Given the description of an element on the screen output the (x, y) to click on. 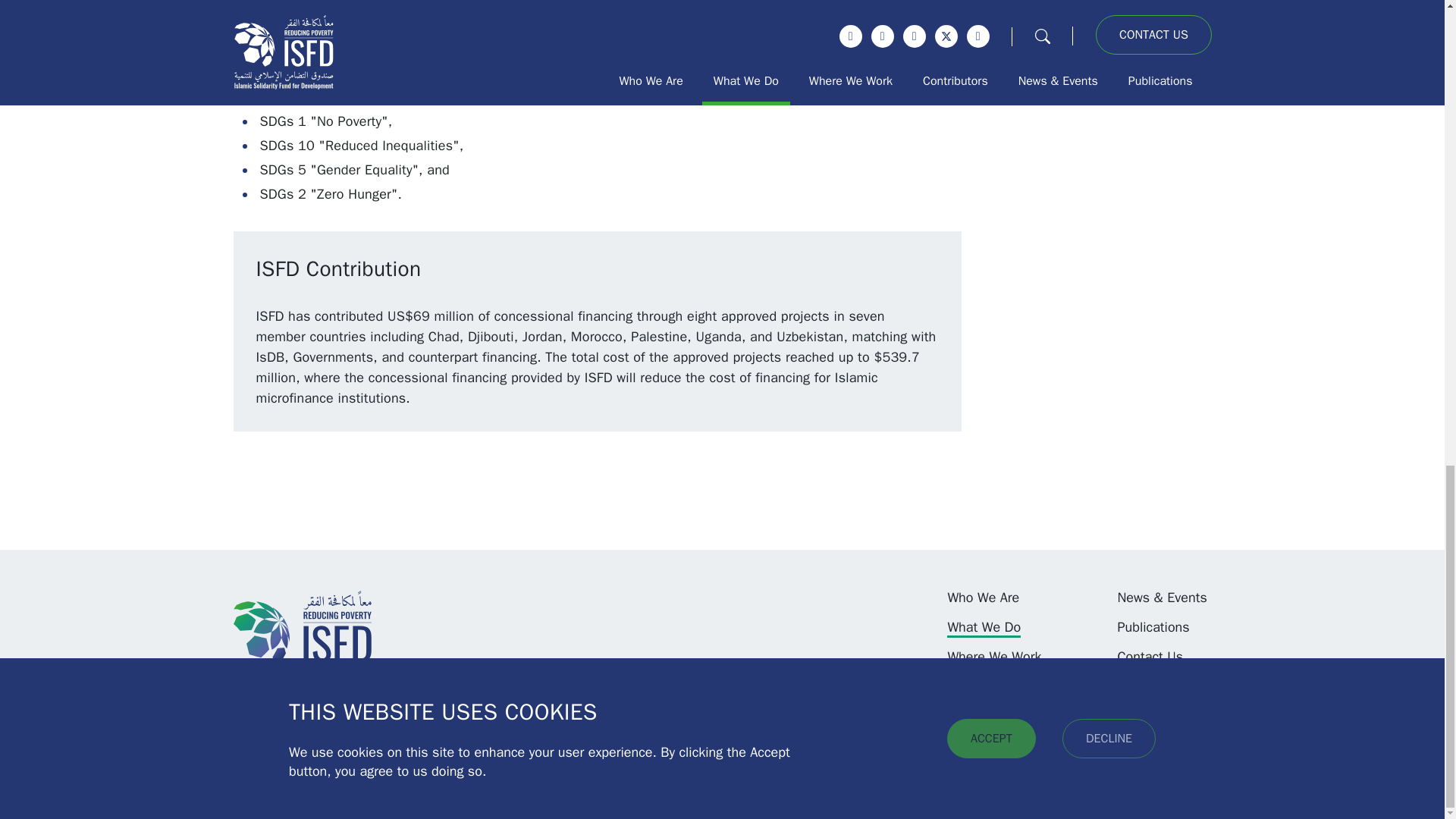
Who We Are (983, 598)
What We Do (983, 627)
Where We Work (994, 657)
